Given the description of an element on the screen output the (x, y) to click on. 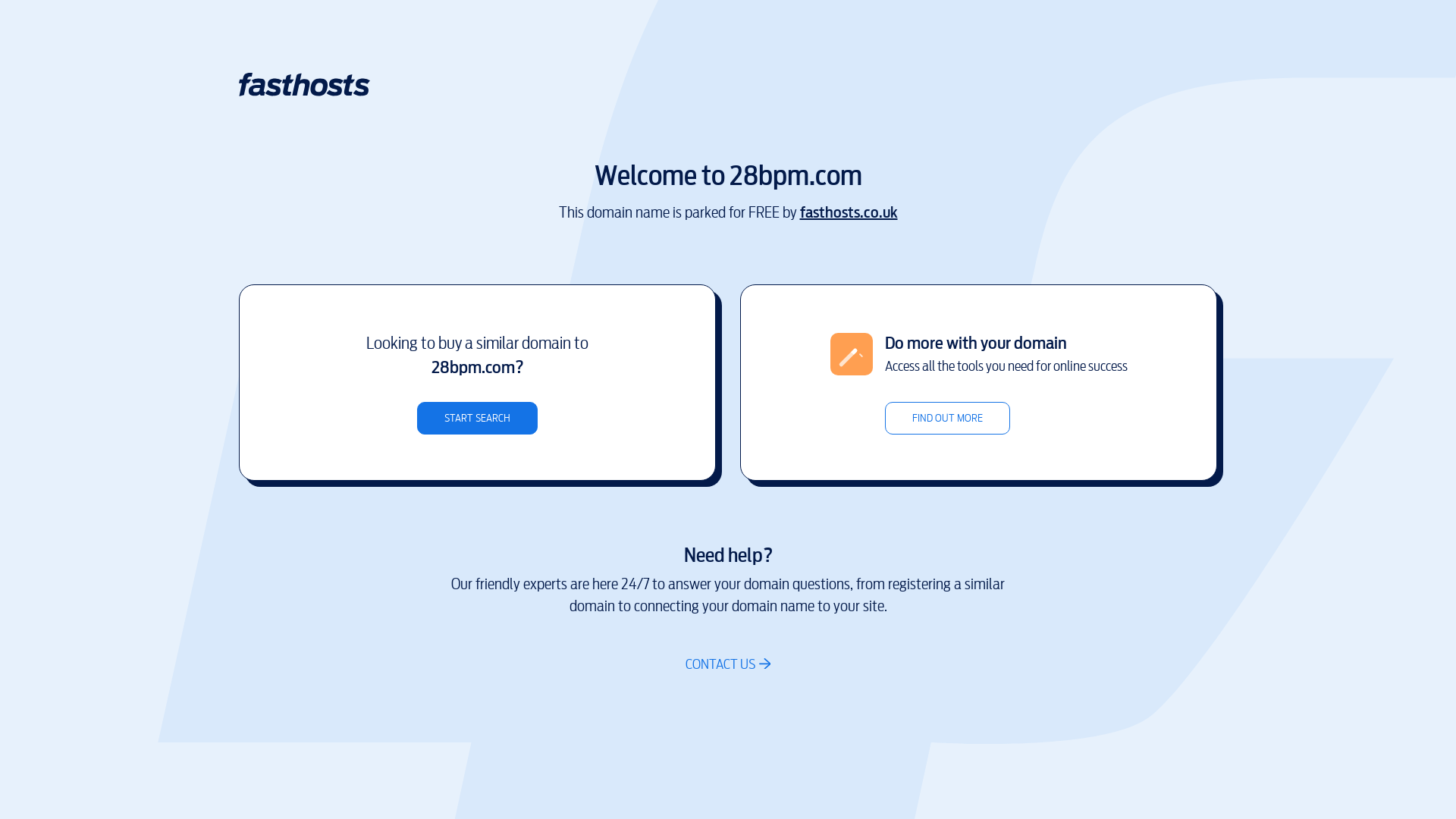
START SEARCH Element type: text (477, 417)
CONTACT US Element type: text (727, 663)
fasthosts.co.uk Element type: text (848, 212)
FIND OUT MORE Element type: text (946, 417)
